Given the description of an element on the screen output the (x, y) to click on. 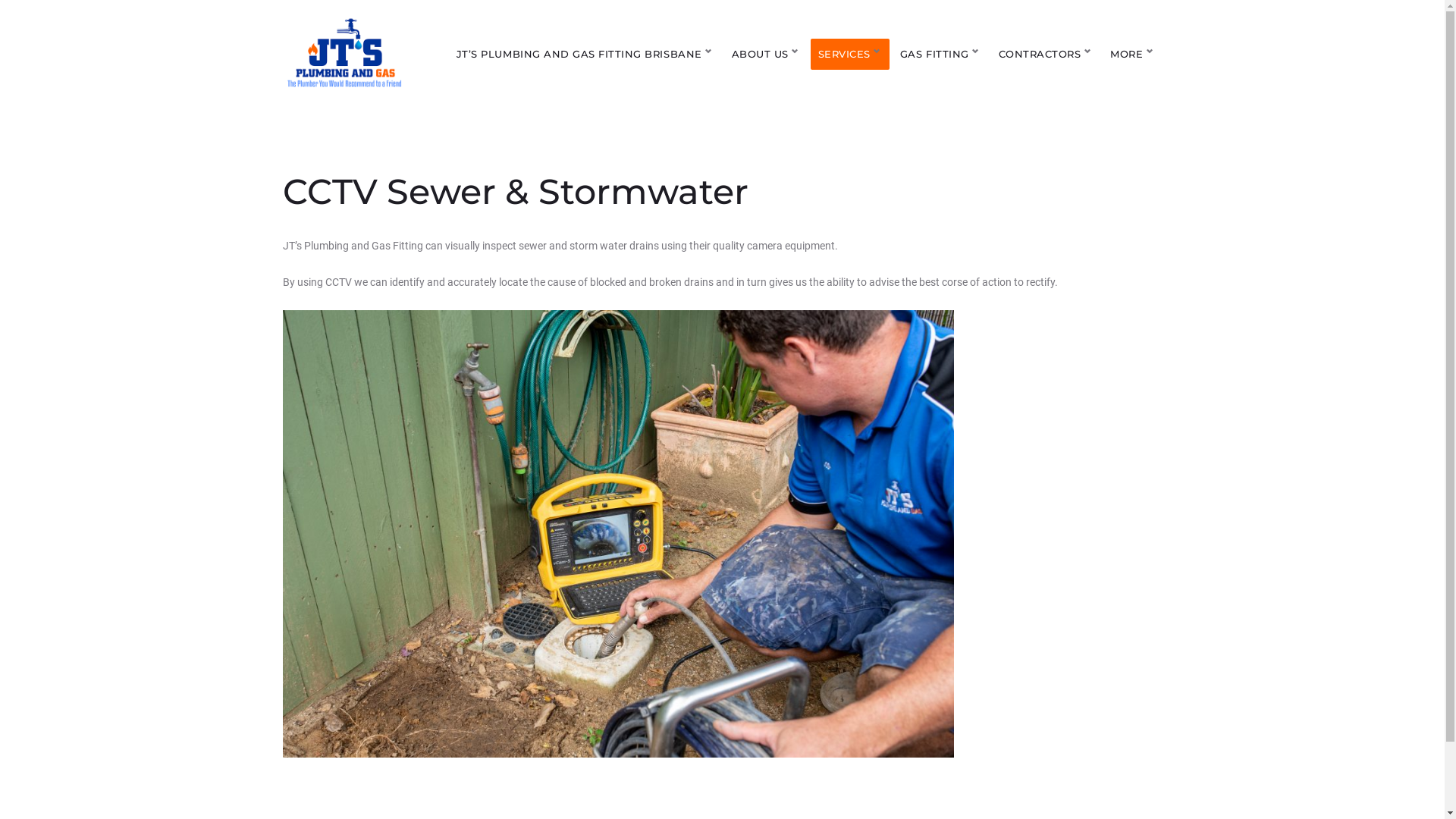
MORE Element type: text (1131, 53)
ABOUT US Element type: text (765, 53)
CONTRACTORS Element type: text (1045, 53)
SERVICES Element type: text (849, 53)
GAS FITTING Element type: text (940, 53)
